Given the description of an element on the screen output the (x, y) to click on. 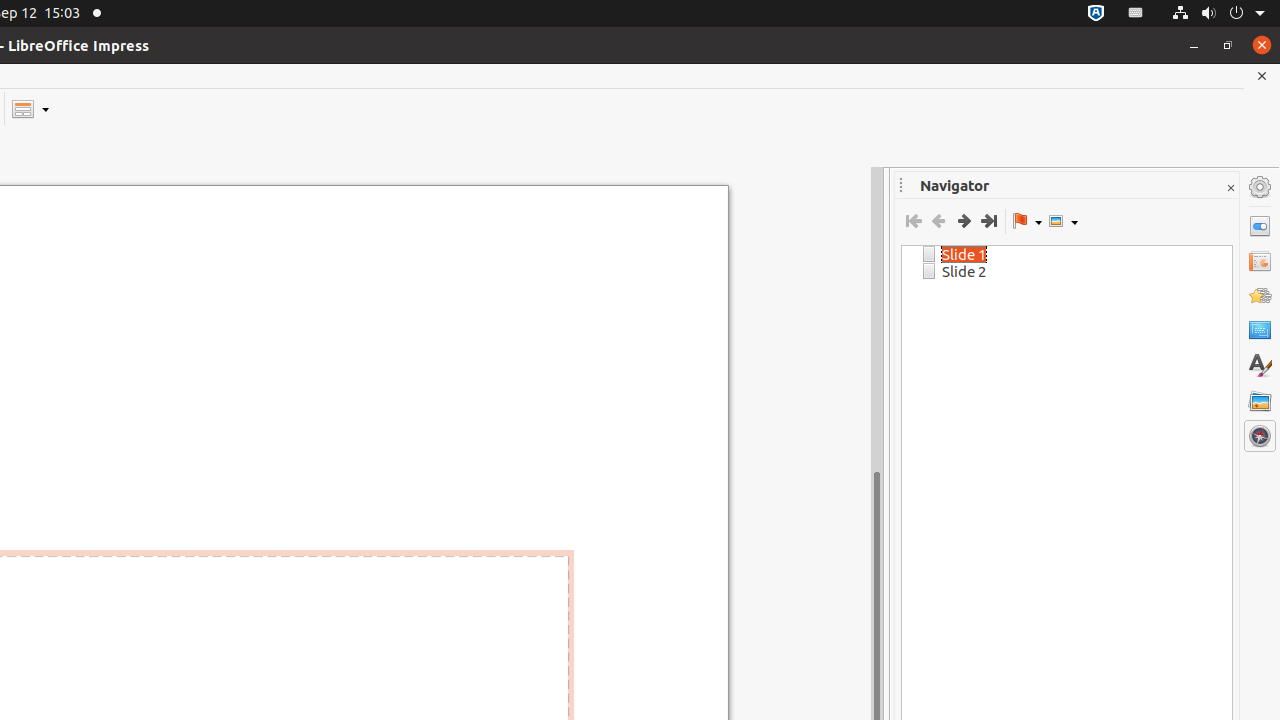
Properties Element type: radio-button (1260, 226)
Last Slide Element type: push-button (988, 221)
